Given the description of an element on the screen output the (x, y) to click on. 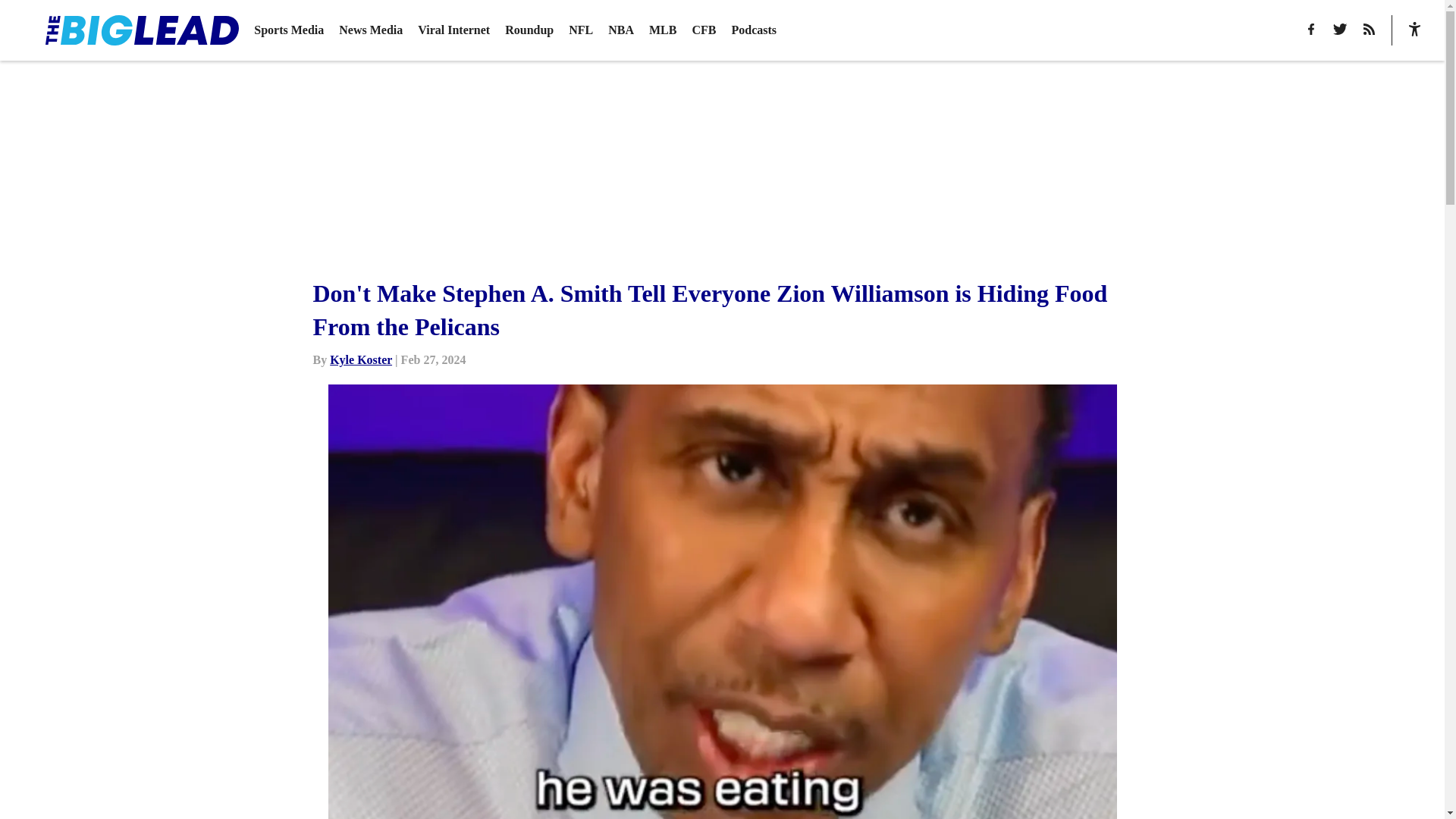
NFL (580, 30)
NBA (620, 30)
MLB (663, 30)
Sports Media (288, 30)
Kyle Koster (360, 359)
CFB (703, 30)
Roundup (529, 30)
Viral Internet (453, 30)
News Media (371, 30)
Podcasts (753, 30)
